Given the description of an element on the screen output the (x, y) to click on. 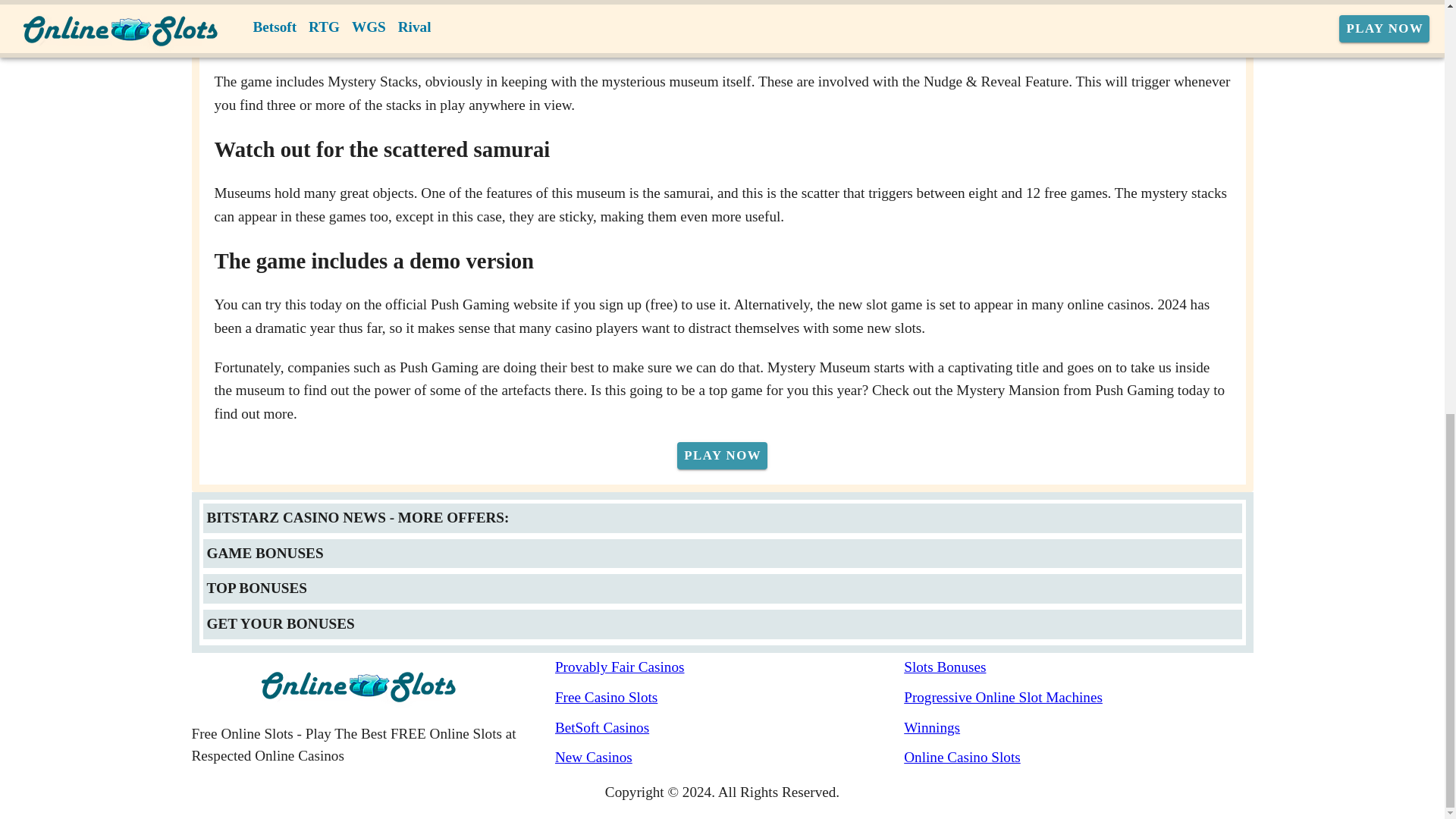
Online Casino Slots (1078, 757)
Free Casino Slots (729, 698)
New Casinos (729, 757)
Progressive Online Slot Machines (1078, 698)
BetSoft Casinos (729, 728)
Provably Fair Casinos (729, 667)
Slots Bonuses (1078, 667)
PLAY NOW (722, 455)
Winnings (1078, 728)
